Given the description of an element on the screen output the (x, y) to click on. 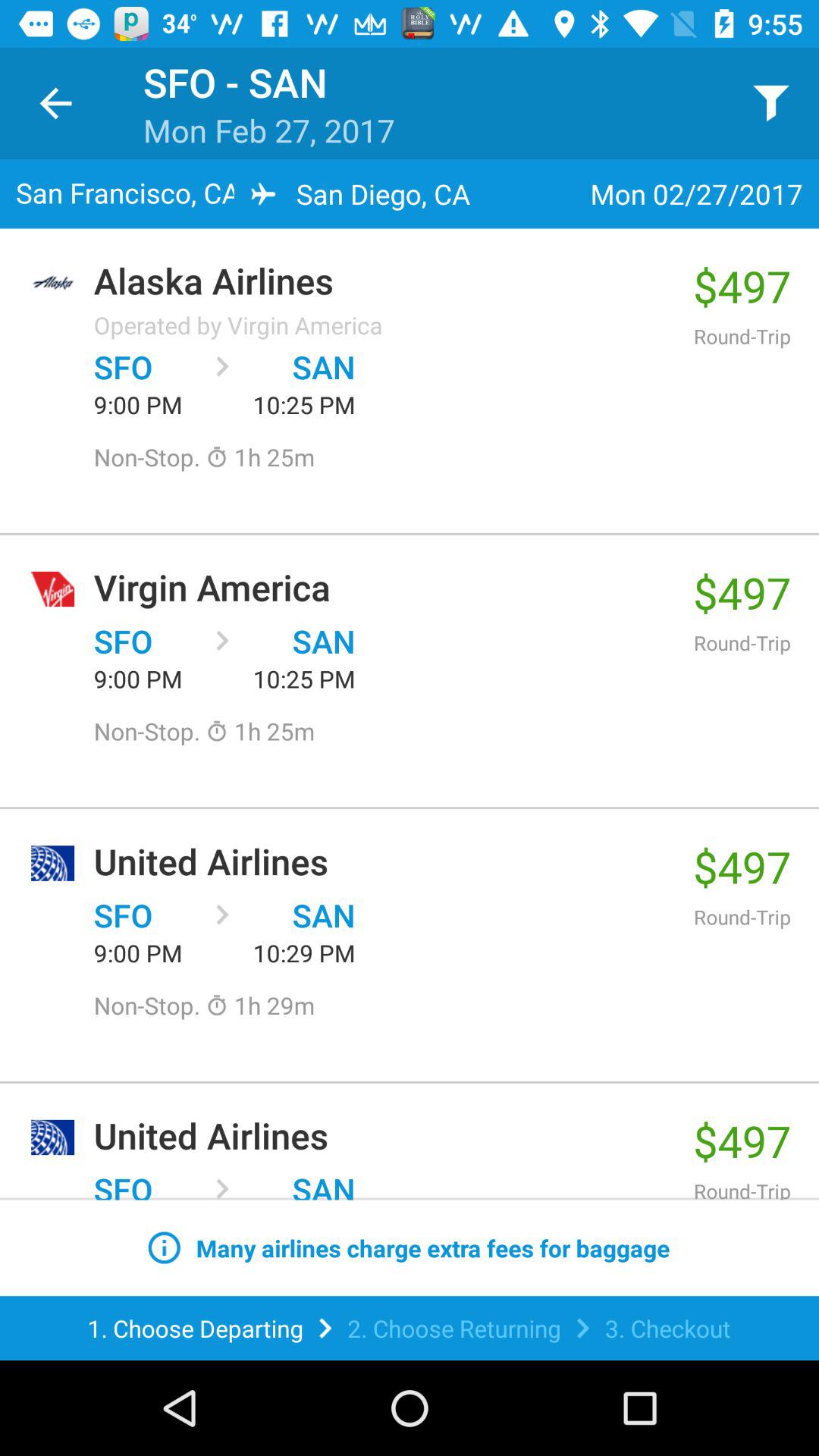
swipe until the operated by virgin (237, 324)
